Given the description of an element on the screen output the (x, y) to click on. 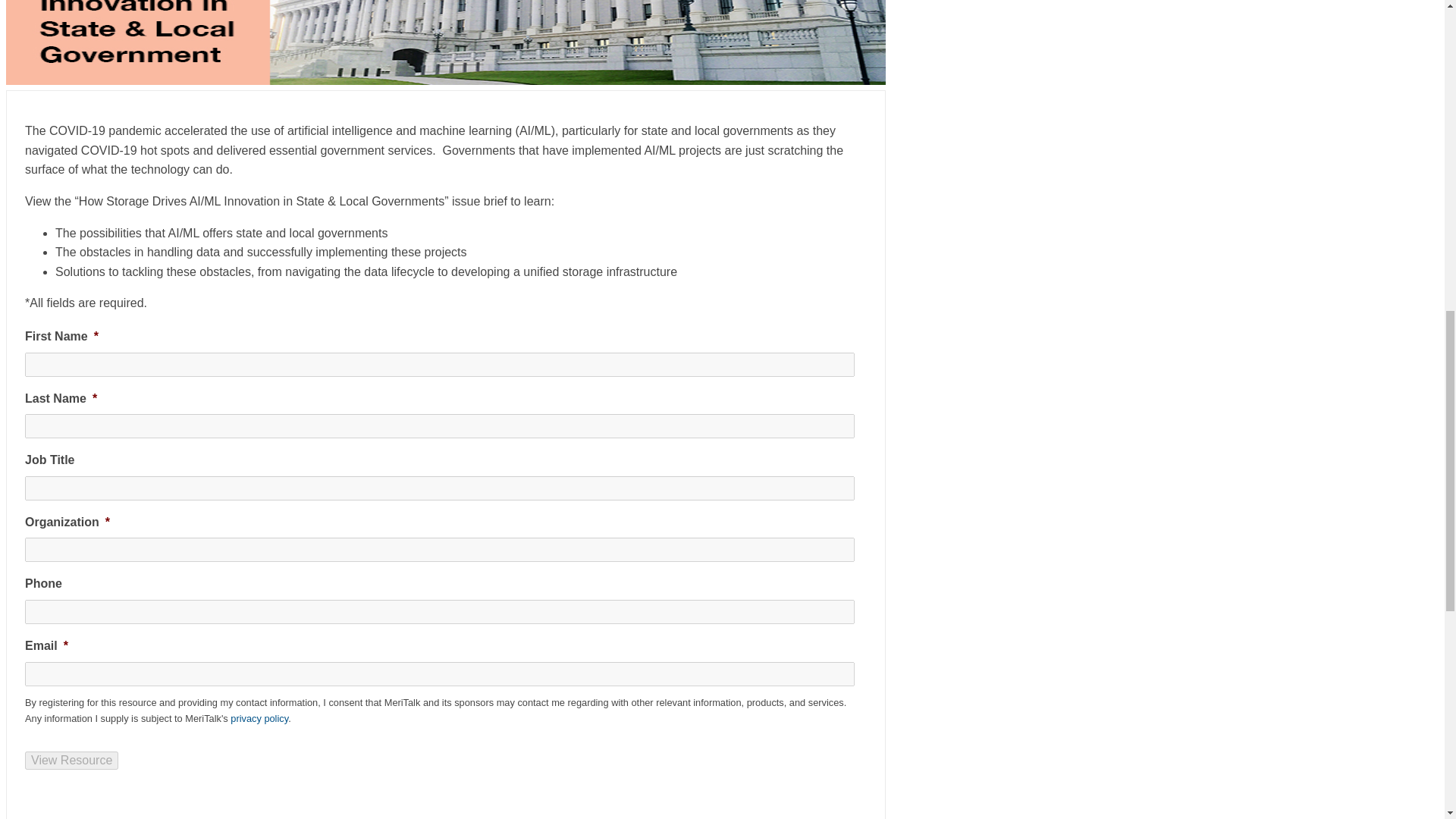
View Resource (70, 760)
View Resource (70, 760)
privacy policy (259, 717)
